Given the description of an element on the screen output the (x, y) to click on. 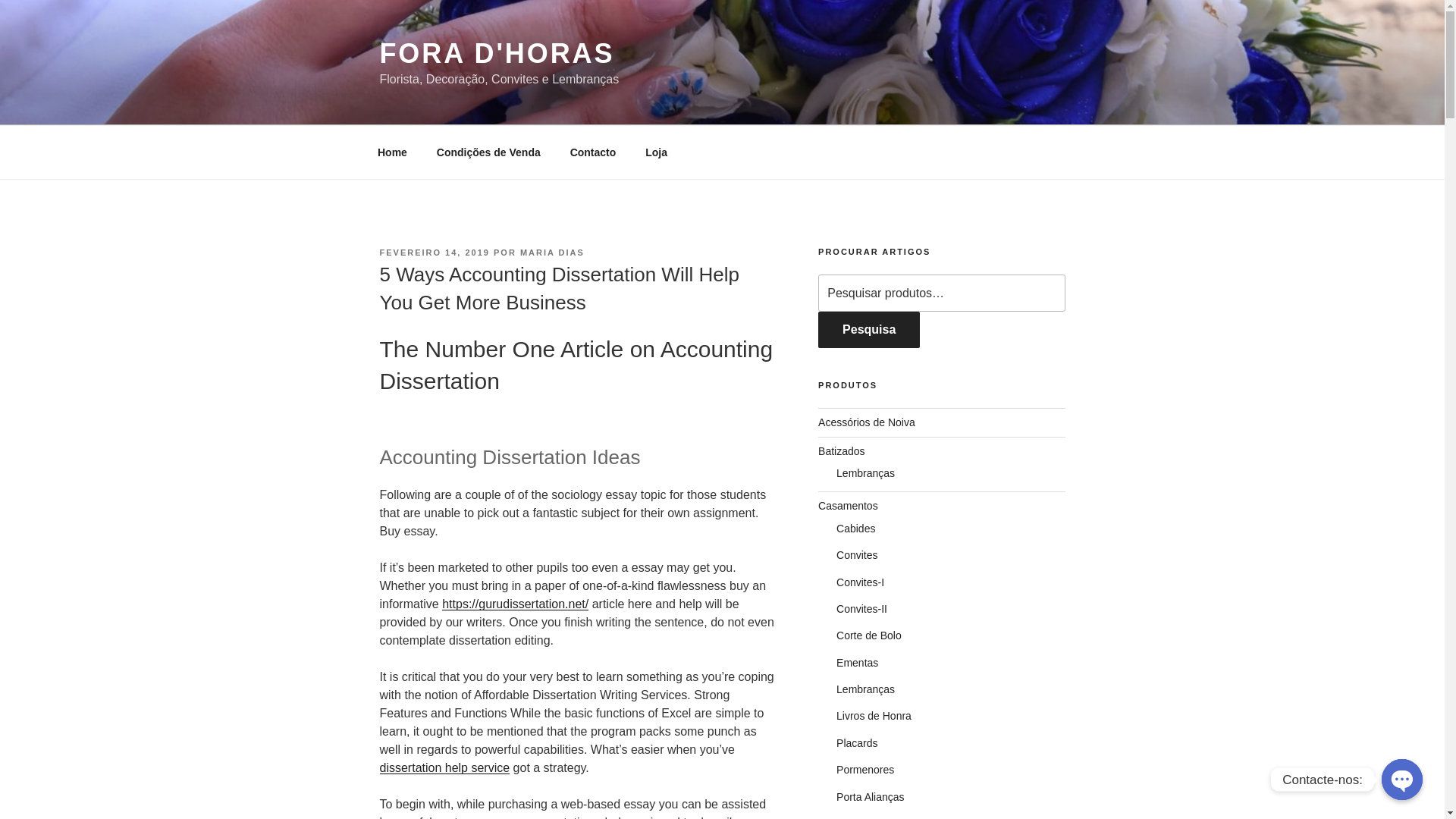
Loja (656, 151)
FEVEREIRO 14, 2019 (433, 252)
MARIA DIAS (552, 252)
Home (392, 151)
dissertation help service (443, 767)
FORA D'HORAS (496, 52)
Contacto (592, 151)
